Given the description of an element on the screen output the (x, y) to click on. 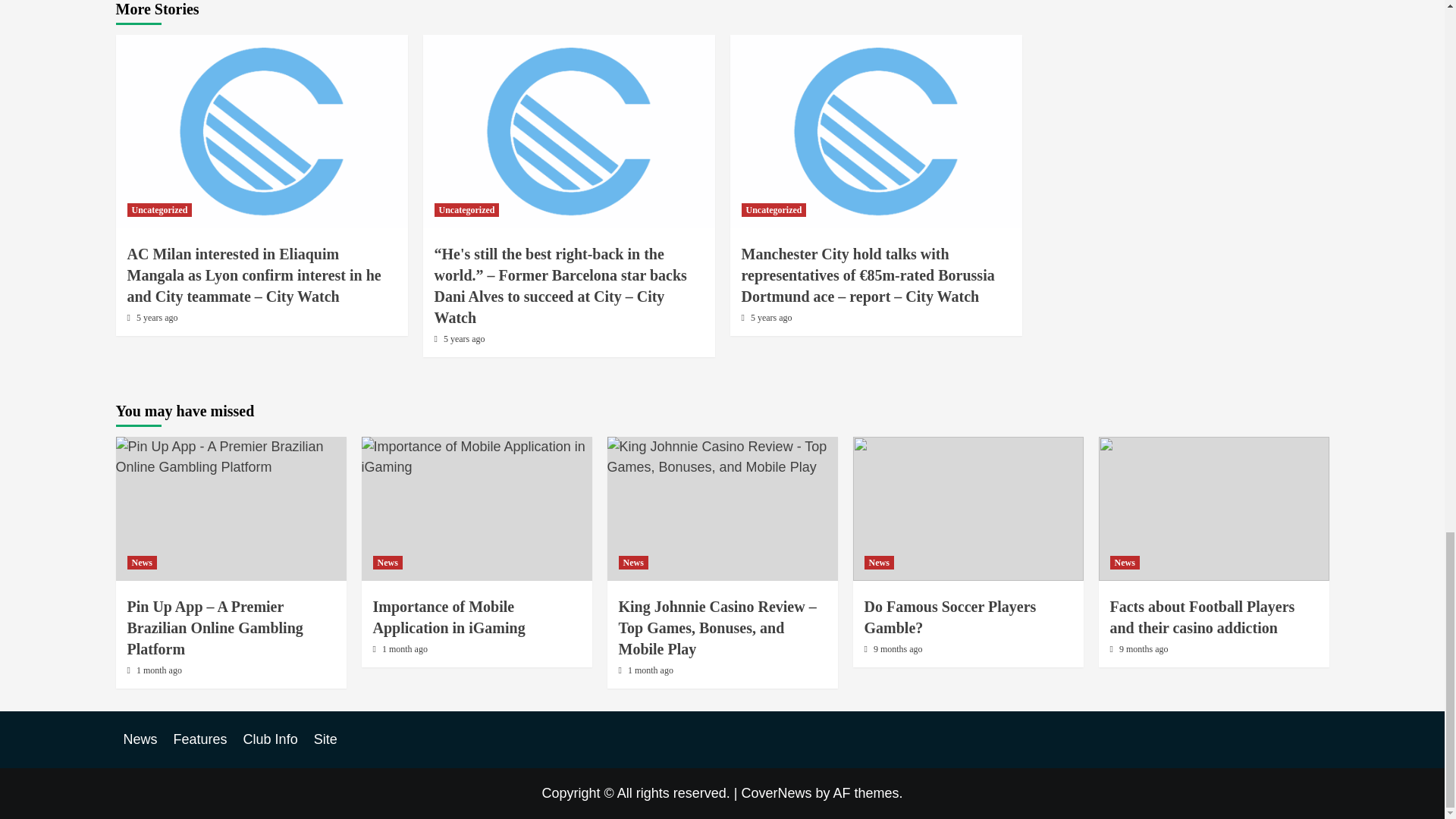
Uncategorized (466, 210)
5 years ago (156, 317)
5 years ago (464, 338)
Uncategorized (160, 210)
